Given the description of an element on the screen output the (x, y) to click on. 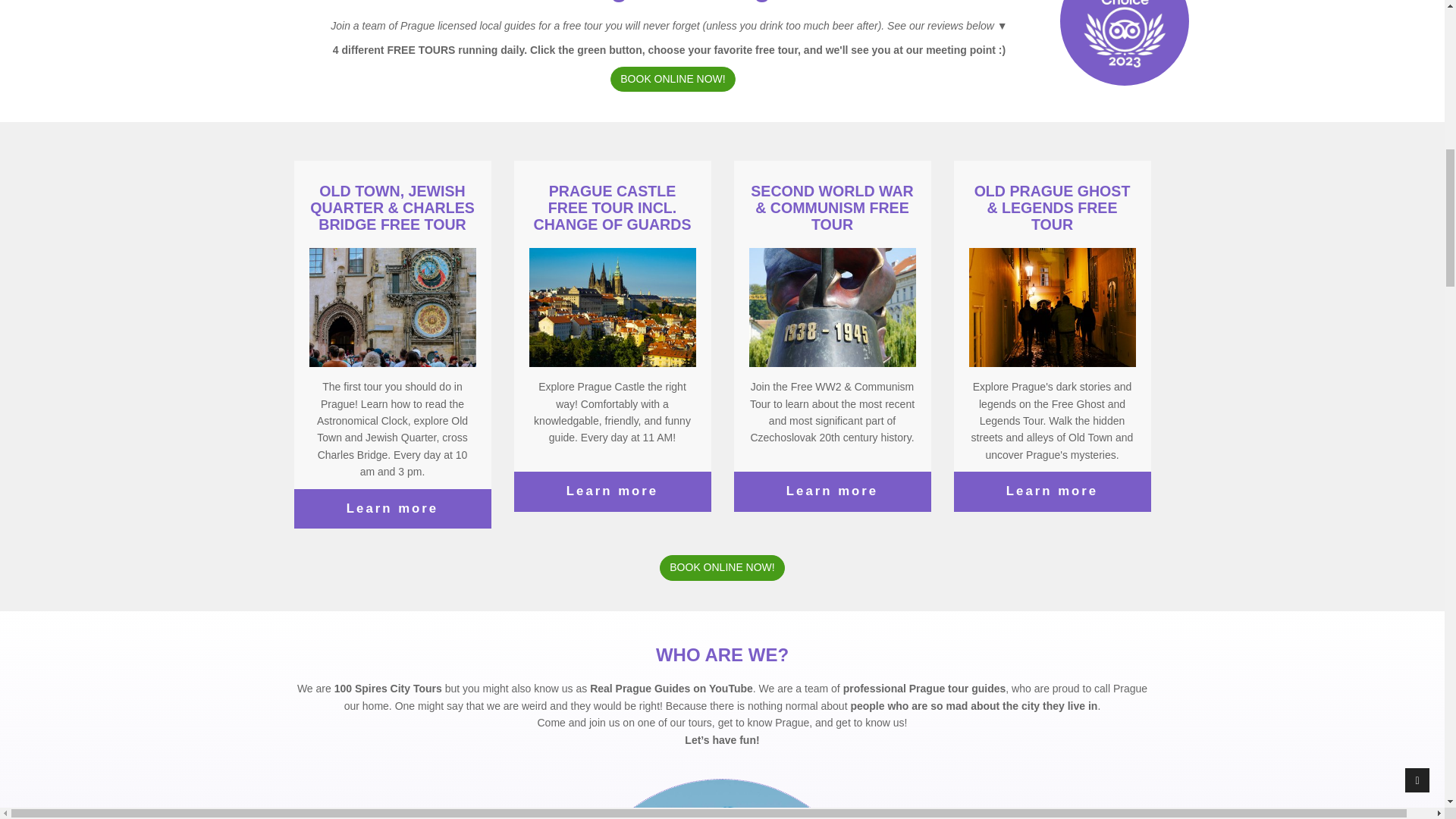
Learn more (612, 490)
BOOK ONLINE NOW! (672, 79)
Learn more (392, 508)
Learn more (831, 490)
FareHarbor (1342, 53)
Learn more (1051, 490)
PRAGUE CASTLE FREE TOUR INCL. CHANGE OF GUARDS (612, 207)
TripAdvisor Travelers Choice 2023 (1124, 20)
BOOK ONLINE NOW! (721, 567)
